Given the description of an element on the screen output the (x, y) to click on. 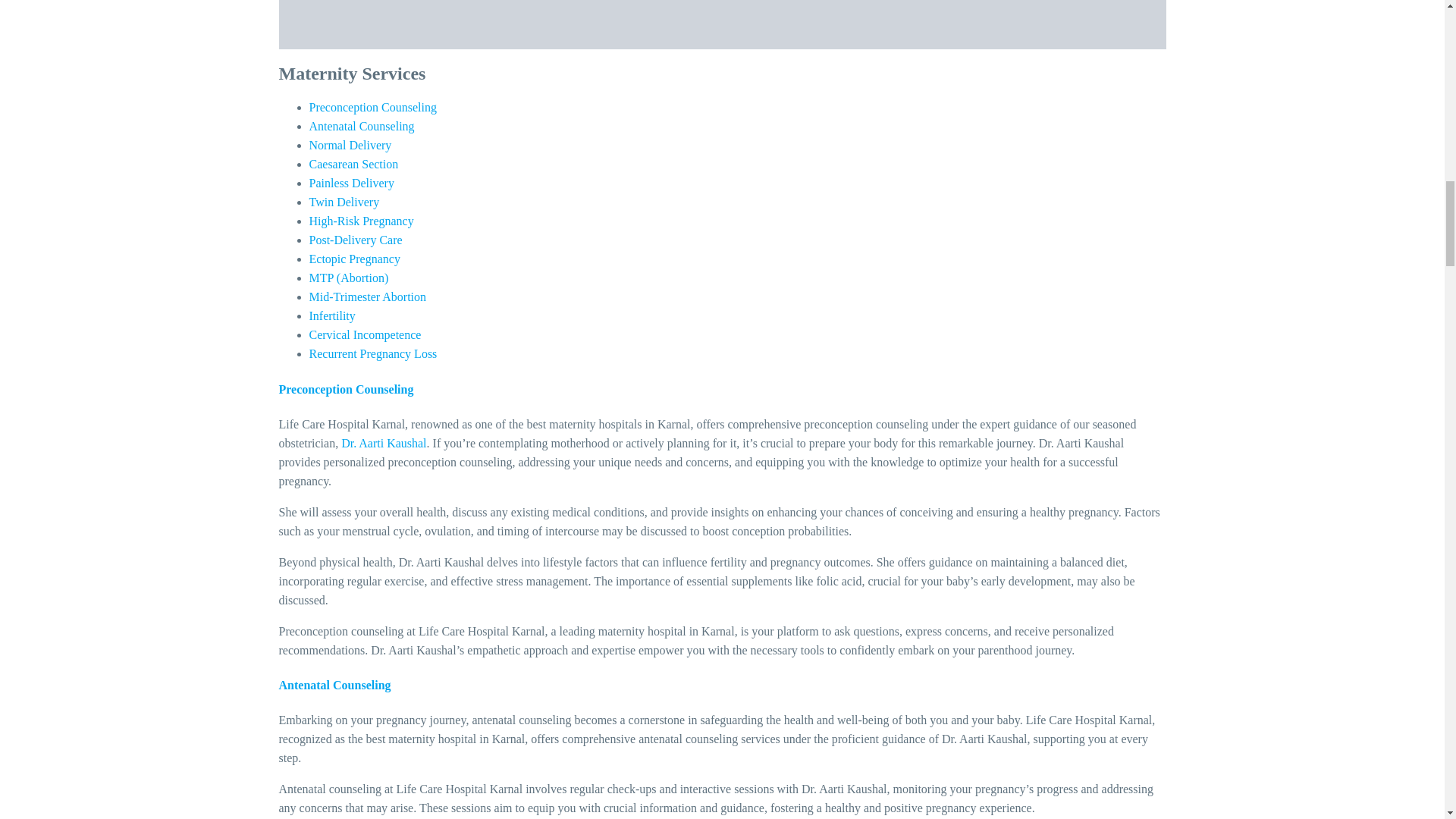
Mid-Trimester Abortion (367, 296)
Infertility (331, 315)
Maternity Services: Best Maternity Hospital In Karnal 6 (722, 24)
Caesarean Section (353, 164)
Painless Delivery (351, 182)
Normal Delivery (349, 144)
High-Risk Pregnancy (360, 220)
Twin Delivery (344, 201)
Antenatal Counseling (361, 125)
Ectopic Pregnancy (354, 258)
Preconception Counseling (372, 106)
Post-Delivery Care (355, 239)
